Given the description of an element on the screen output the (x, y) to click on. 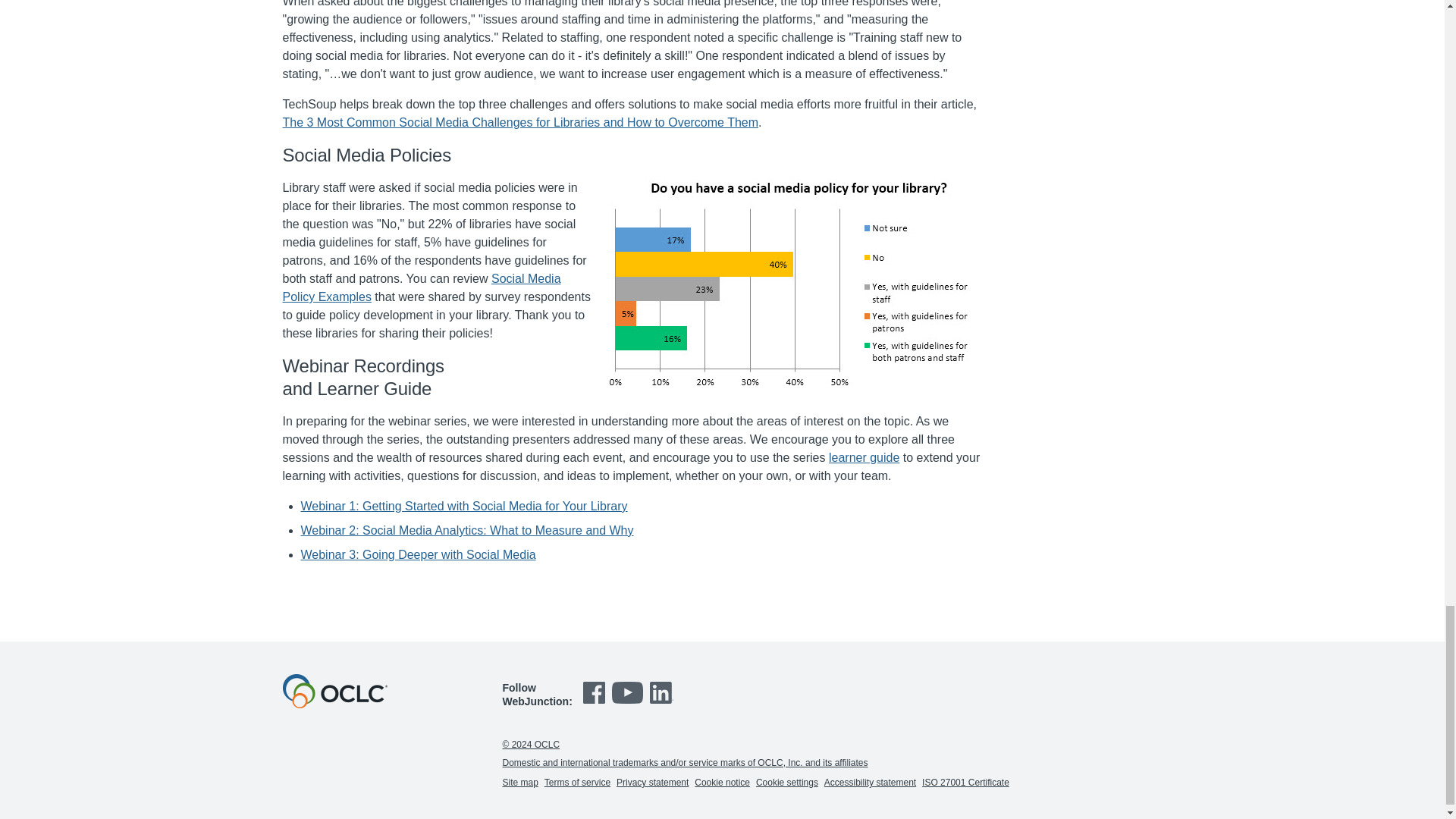
Webinar 3: Going Deeper with Social Media (417, 554)
learner guide (863, 457)
Watch WebJunction videos on YouTube (628, 703)
Like WebJunction on Facebook (595, 703)
Site map (519, 782)
Social Media Policy Examples (421, 287)
Webinar 2: Social Media Analytics: What to Measure and Why (466, 530)
Visit oclc.org (334, 704)
